Given the description of an element on the screen output the (x, y) to click on. 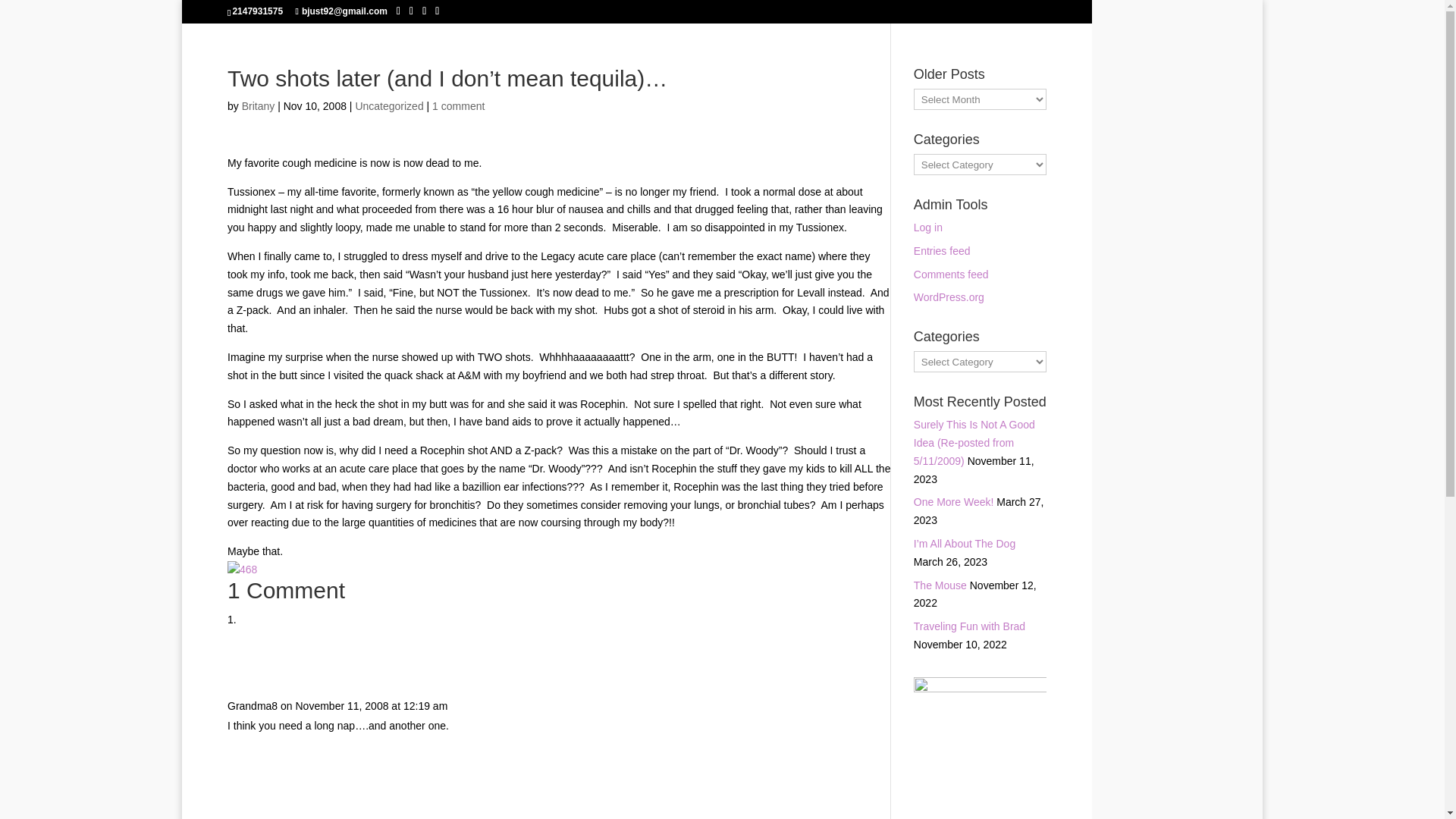
Posts by Britany (258, 105)
